Given the description of an element on the screen output the (x, y) to click on. 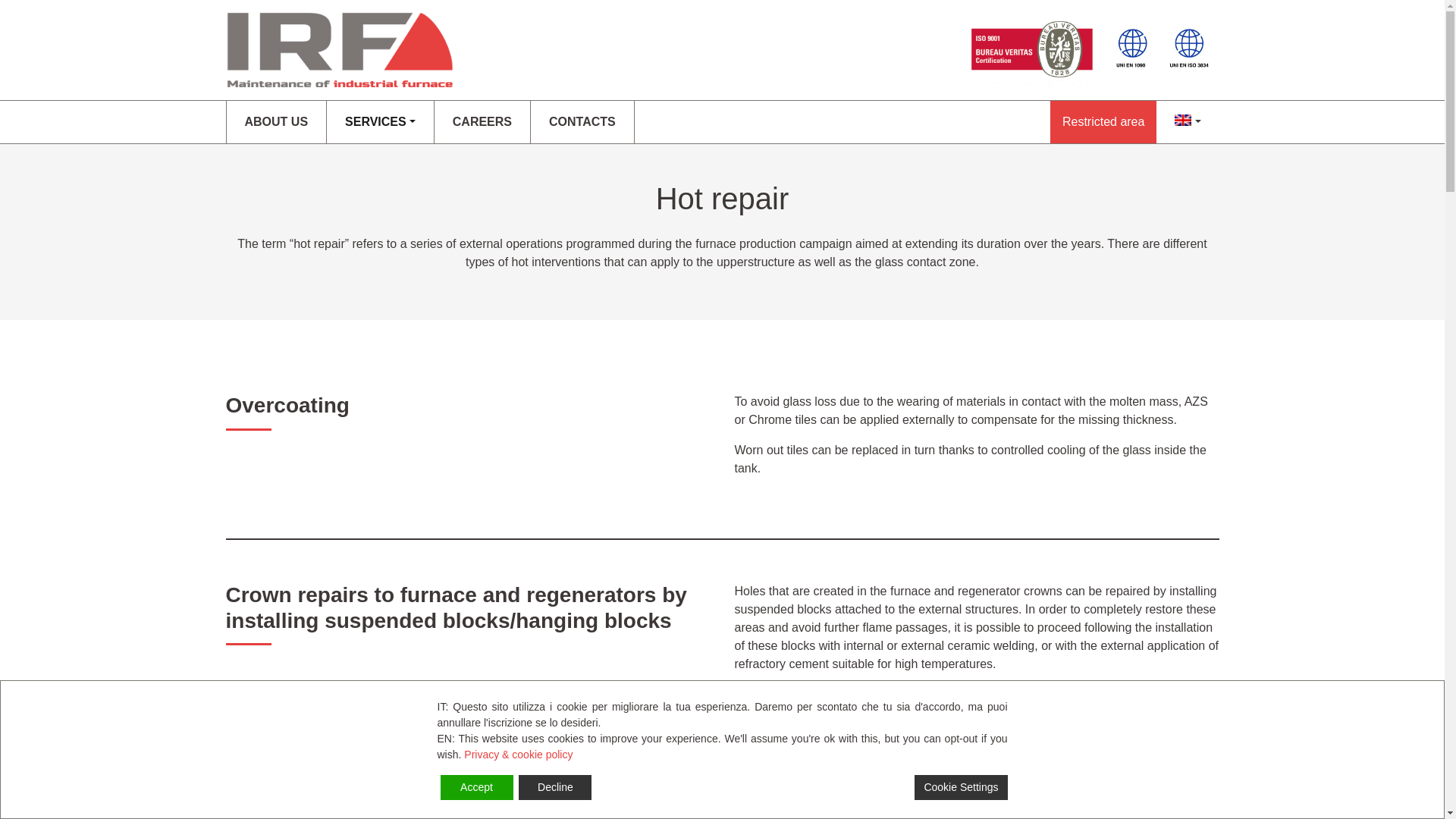
CONTACTS (582, 121)
CAREERS (482, 121)
ABOUT US (276, 121)
Cookie Settings (960, 787)
Services (379, 121)
CAREERS (482, 121)
About us (276, 121)
SERVICES (379, 121)
Accept (475, 787)
Contacts (582, 121)
Decline (554, 787)
Restricted area (1103, 121)
Restricted area (1103, 121)
